Given the description of an element on the screen output the (x, y) to click on. 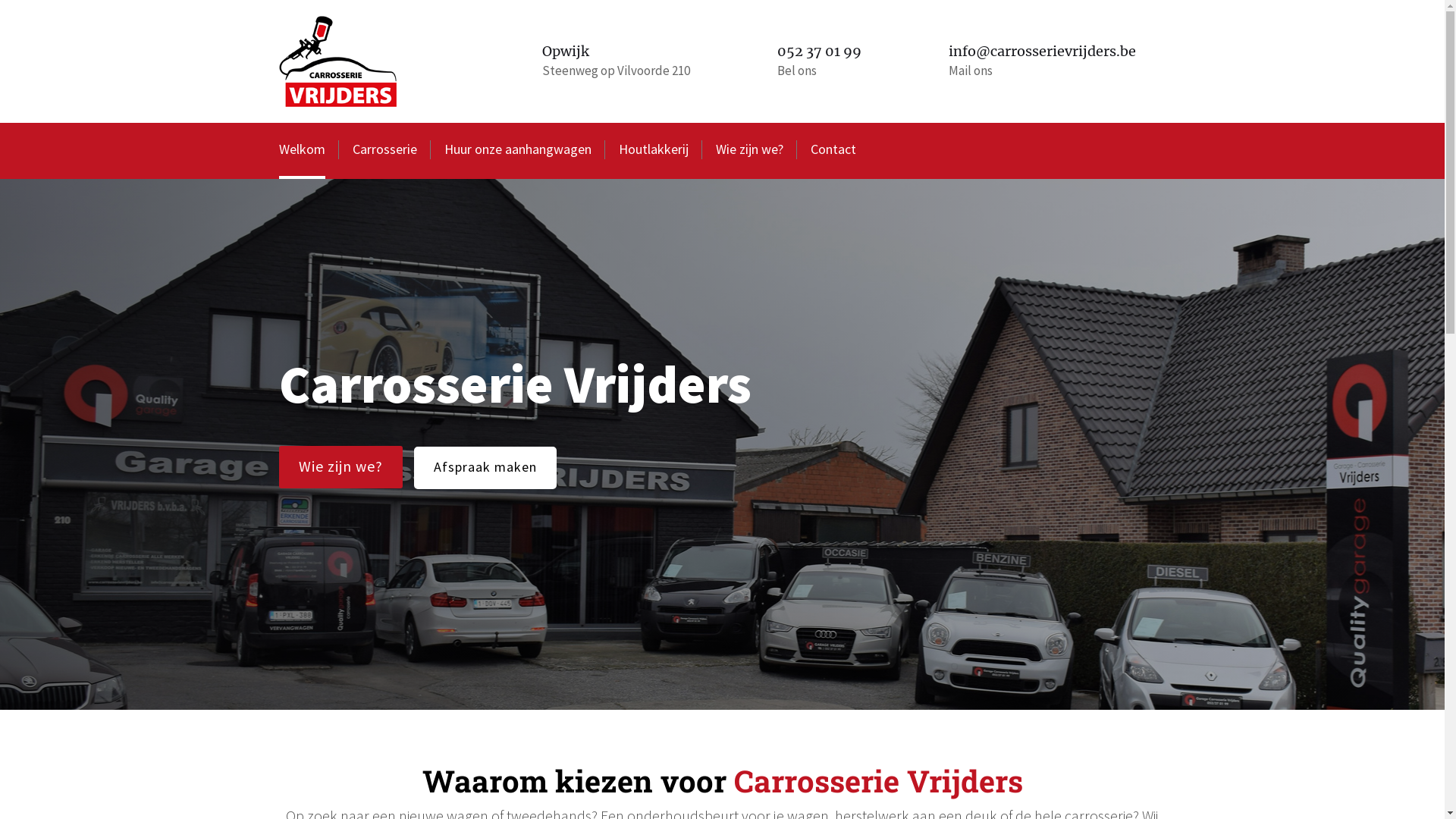
Huur onze aanhangwagen Element type: text (517, 150)
Afspraak maken Element type: text (485, 466)
Wie zijn we? Element type: text (340, 466)
Welkom Element type: text (302, 150)
Carrosserie VrijdersOpwijk Element type: hover (337, 60)
Houtlakkerij Element type: text (653, 150)
052 37 01 99 Element type: text (818, 50)
info@carrosserievrijders.be Element type: text (1041, 50)
Carrosserie Element type: text (383, 150)
Wie zijn we? Element type: text (749, 150)
Contact Element type: text (832, 150)
